Given the description of an element on the screen output the (x, y) to click on. 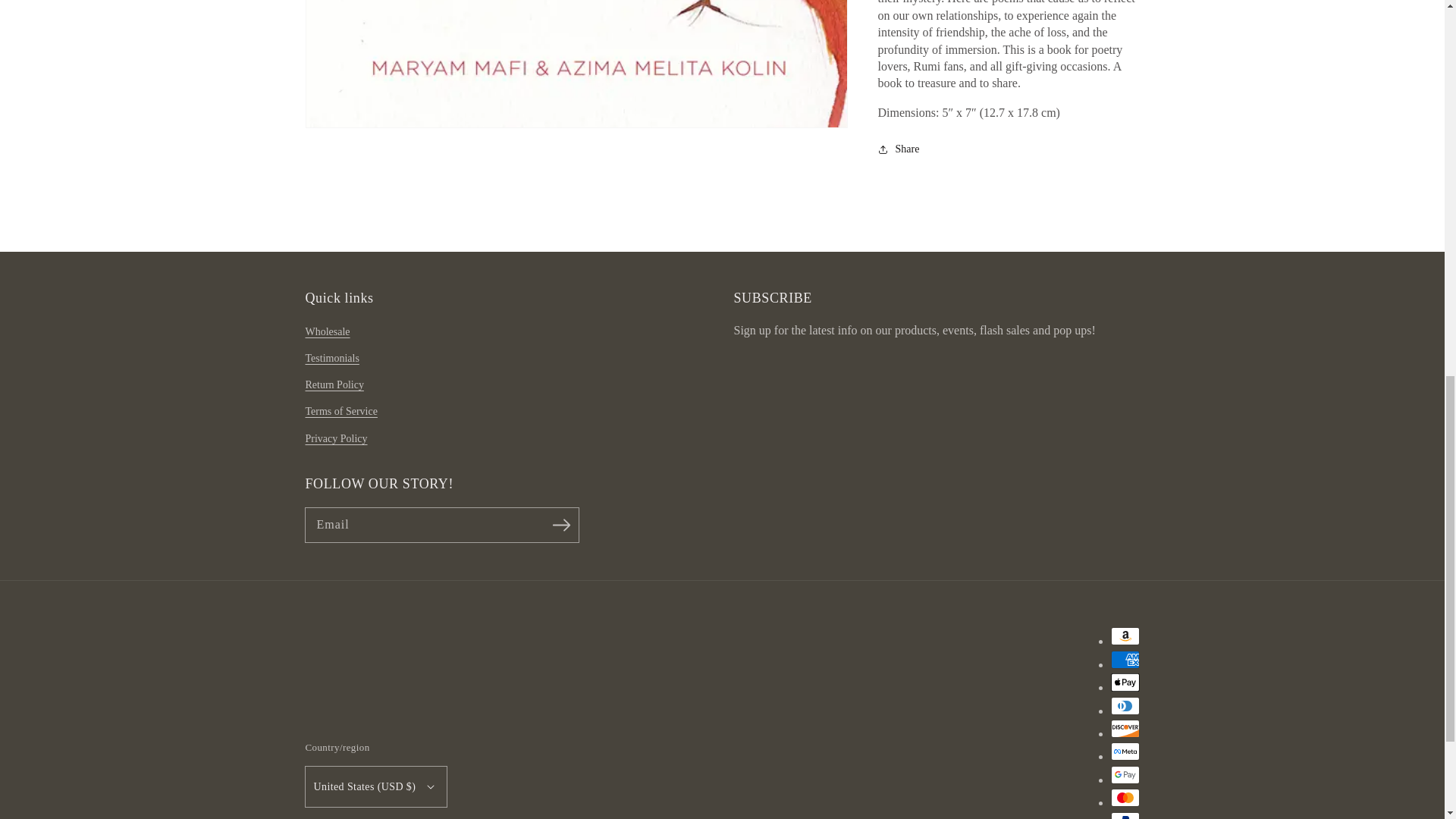
Discover (1123, 728)
Diners Club (1123, 705)
Meta Pay (1123, 751)
Google Pay (1123, 774)
American Express (1123, 659)
Apple Pay (1123, 682)
Amazon (1123, 636)
Mastercard (1123, 797)
